Given the description of an element on the screen output the (x, y) to click on. 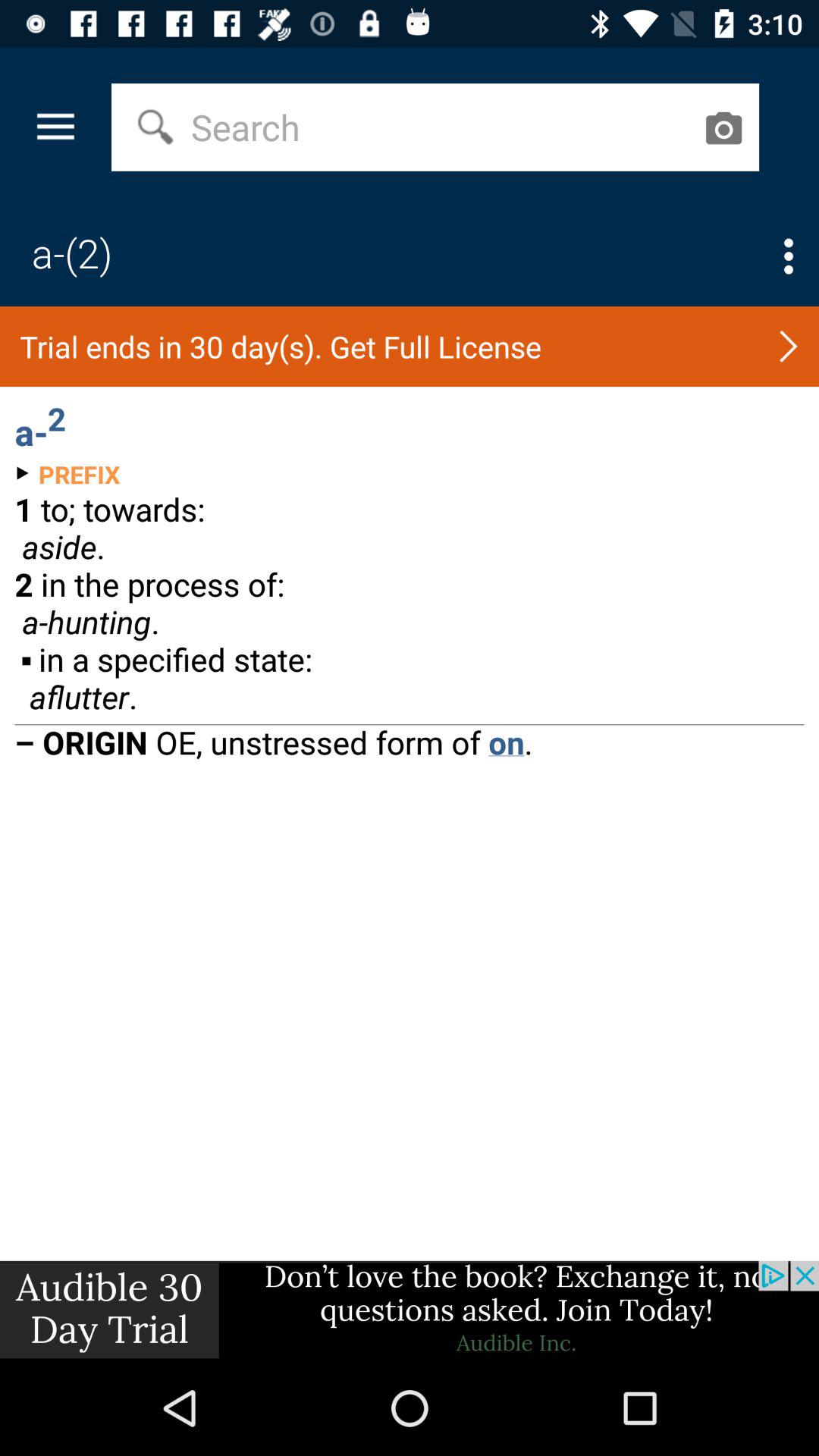
search photos (723, 127)
